Given the description of an element on the screen output the (x, y) to click on. 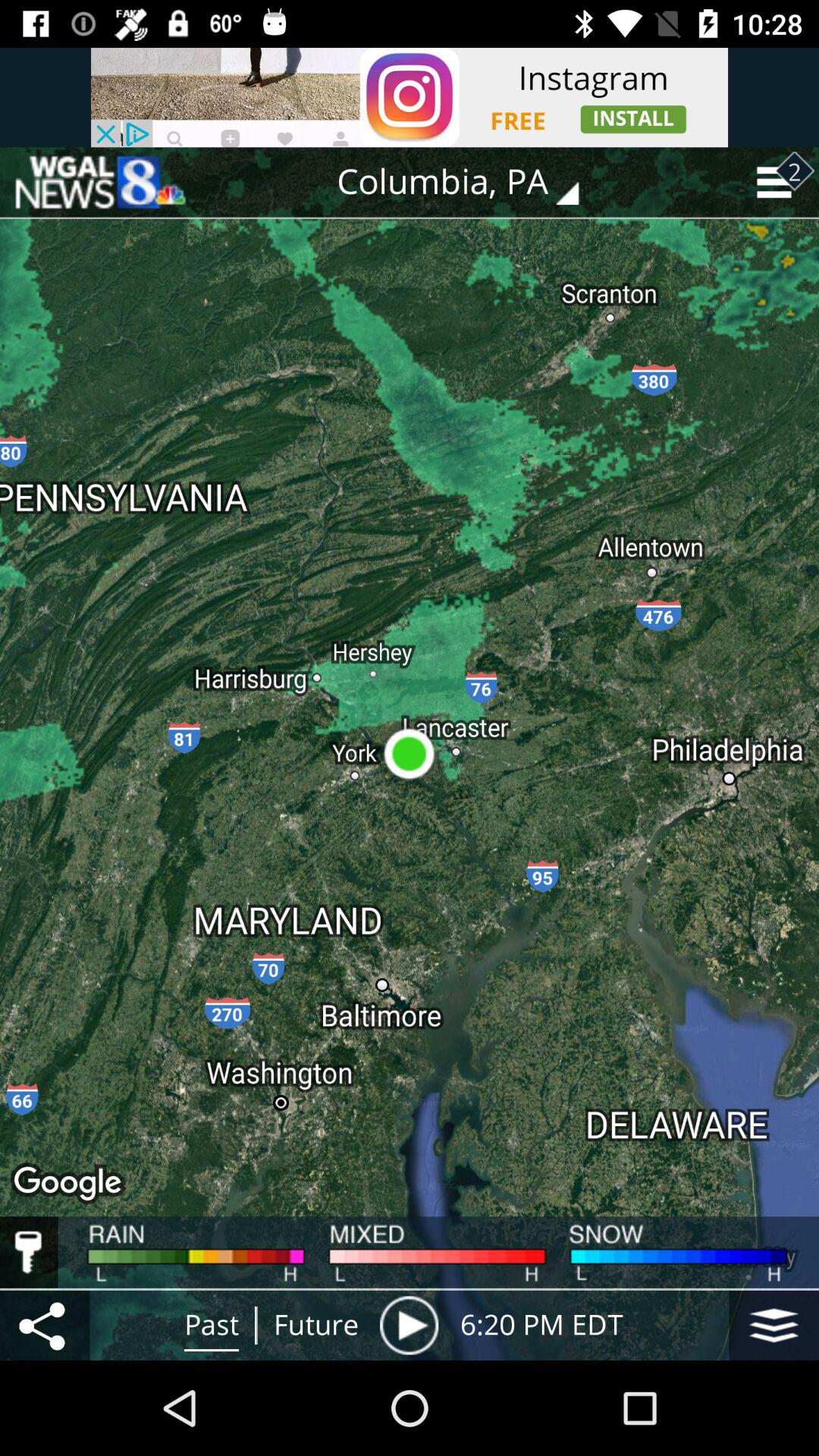
choose the item to the right of the future item (409, 1325)
